Given the description of an element on the screen output the (x, y) to click on. 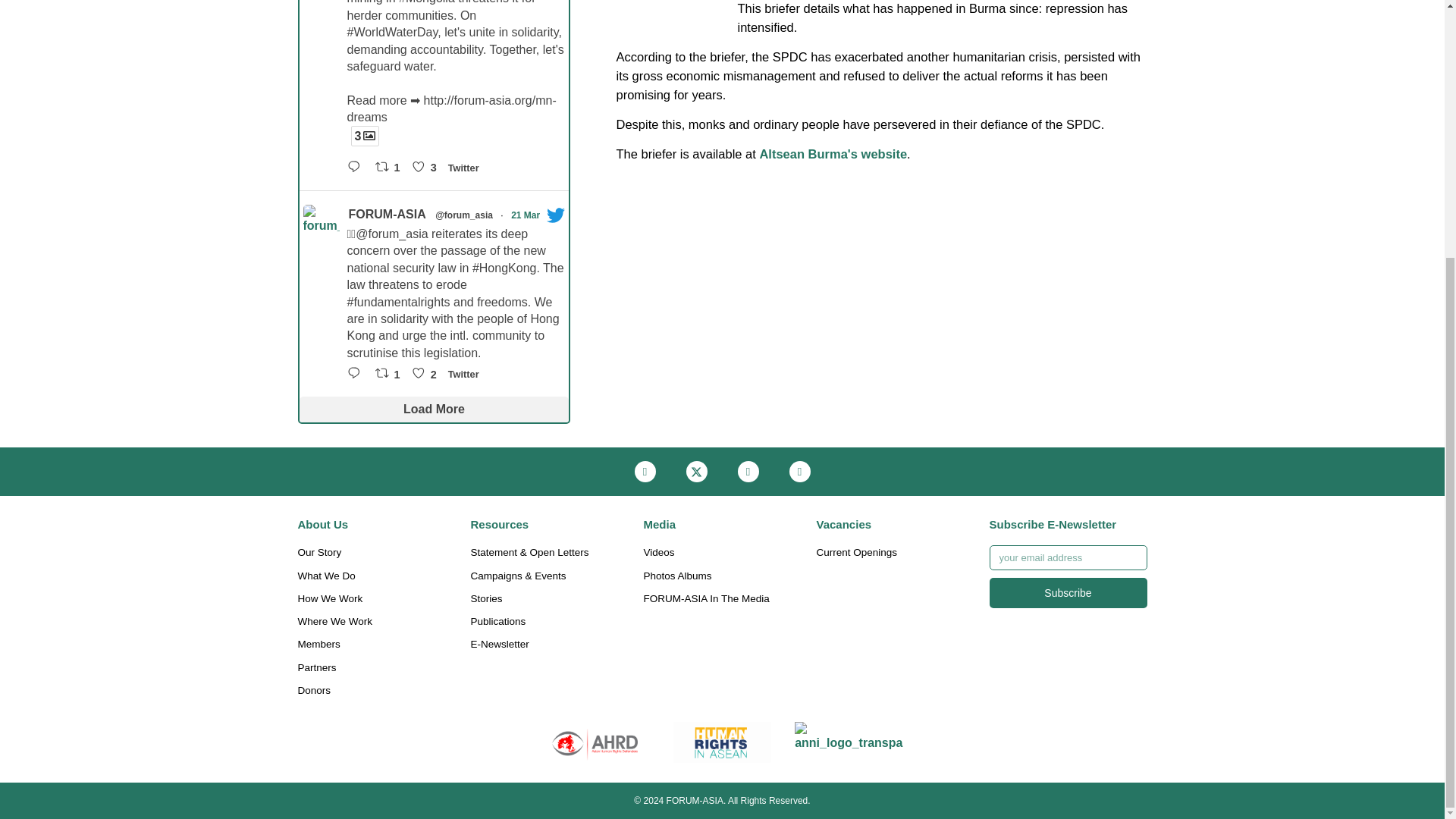
Default Title (722, 741)
Default Title (848, 741)
Default Title (595, 741)
